Given the description of an element on the screen output the (x, y) to click on. 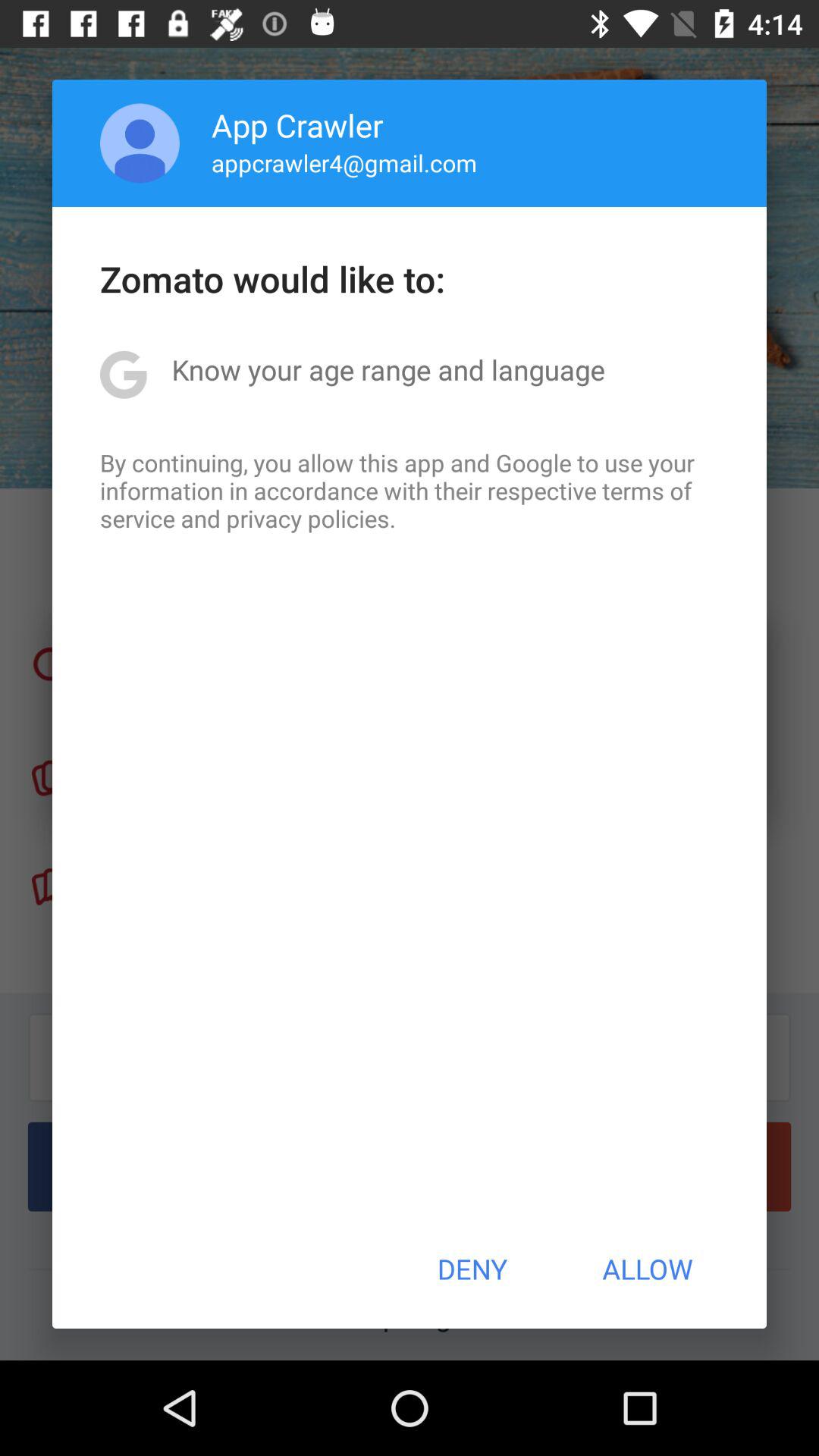
flip until deny (471, 1268)
